Given the description of an element on the screen output the (x, y) to click on. 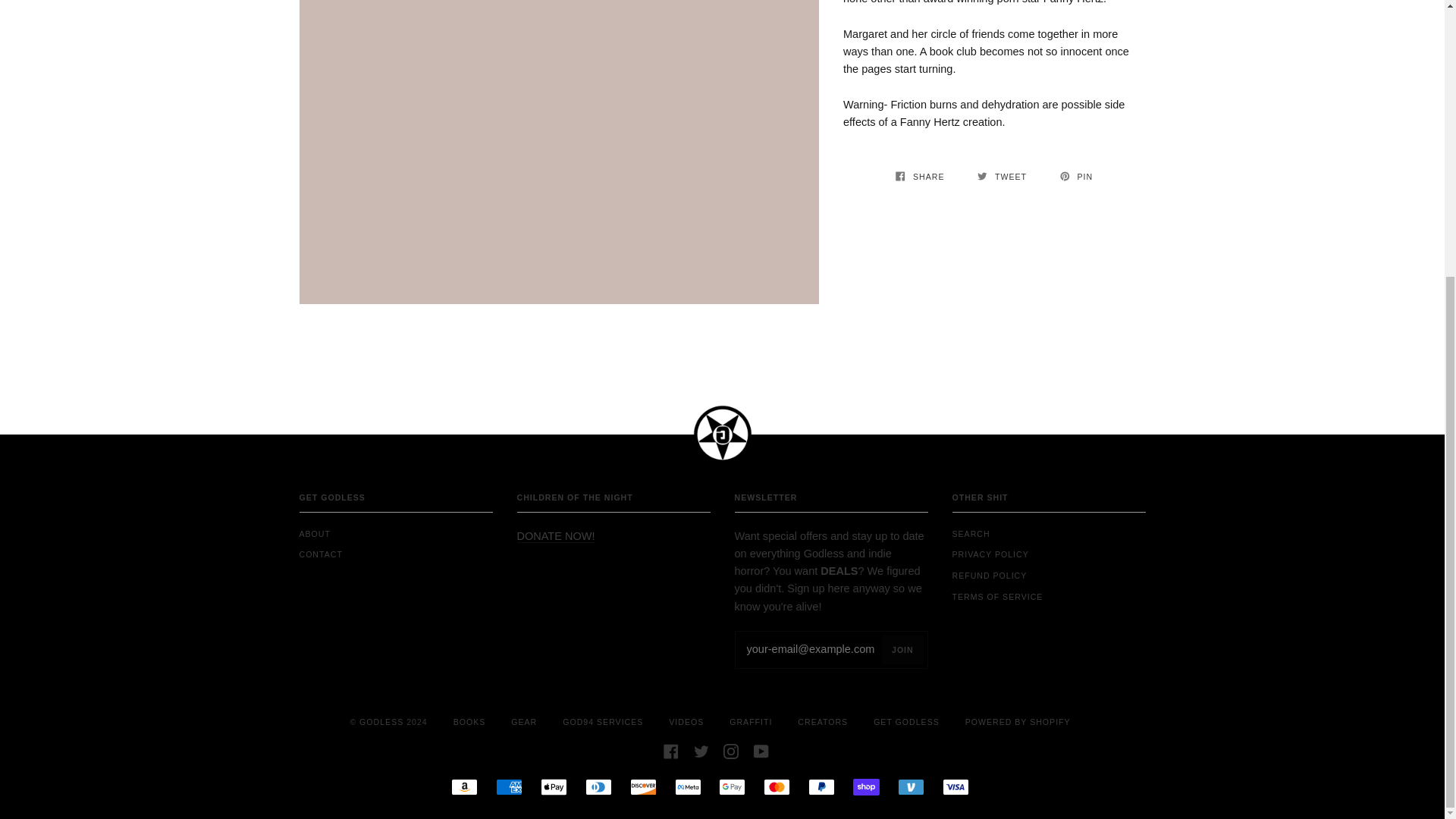
Instagram (730, 750)
Twitter (701, 750)
PAYPAL (821, 786)
AMAZON (464, 786)
META PAY (688, 786)
Facebook (670, 750)
AMERICAN EXPRESS (509, 786)
GOOGLE PAY (732, 786)
MASTERCARD (776, 786)
APPLE PAY (553, 786)
